Given the description of an element on the screen output the (x, y) to click on. 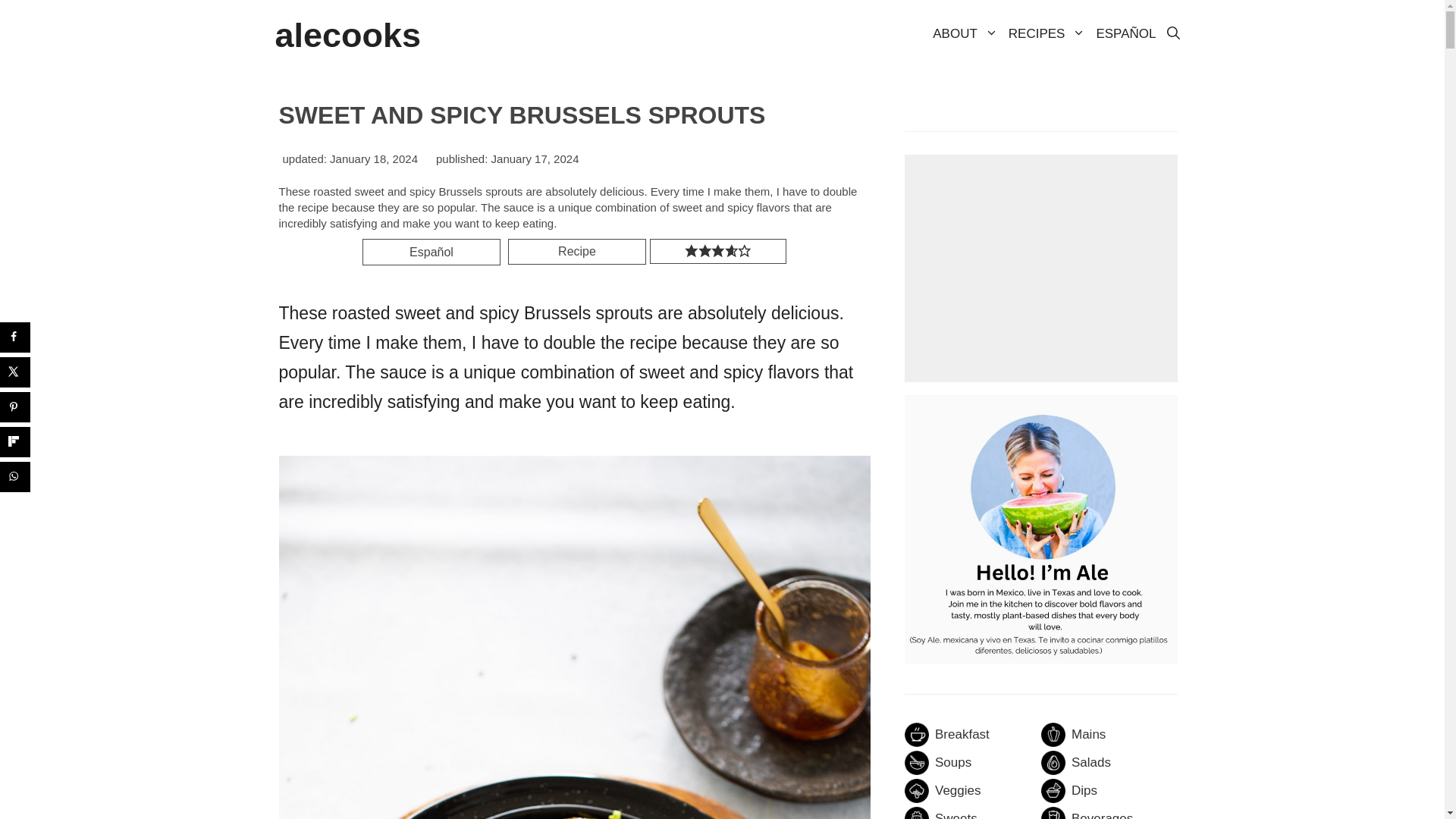
RECIPES (1046, 34)
ABOUT (965, 34)
alecooks (347, 34)
Recipe (577, 251)
